Given the description of an element on the screen output the (x, y) to click on. 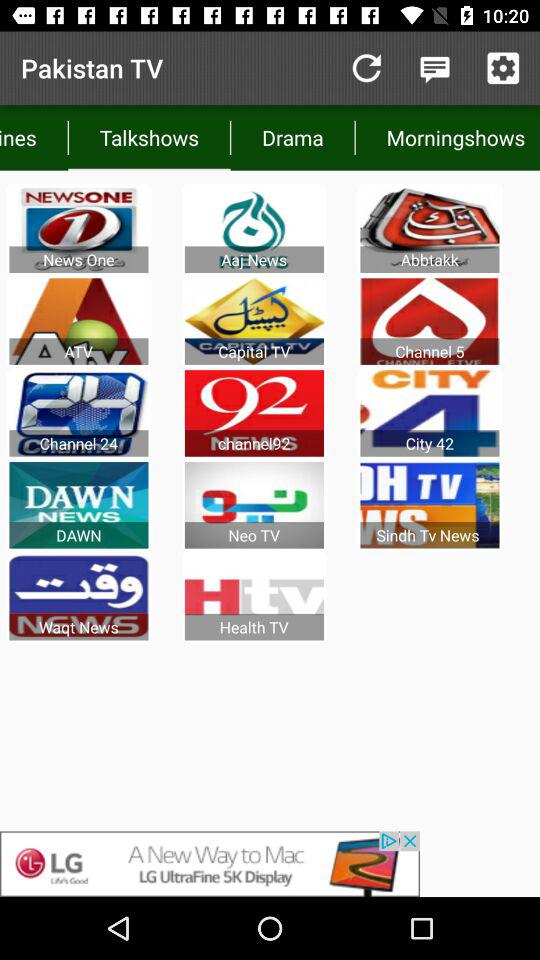
select advertisement (270, 864)
